Given the description of an element on the screen output the (x, y) to click on. 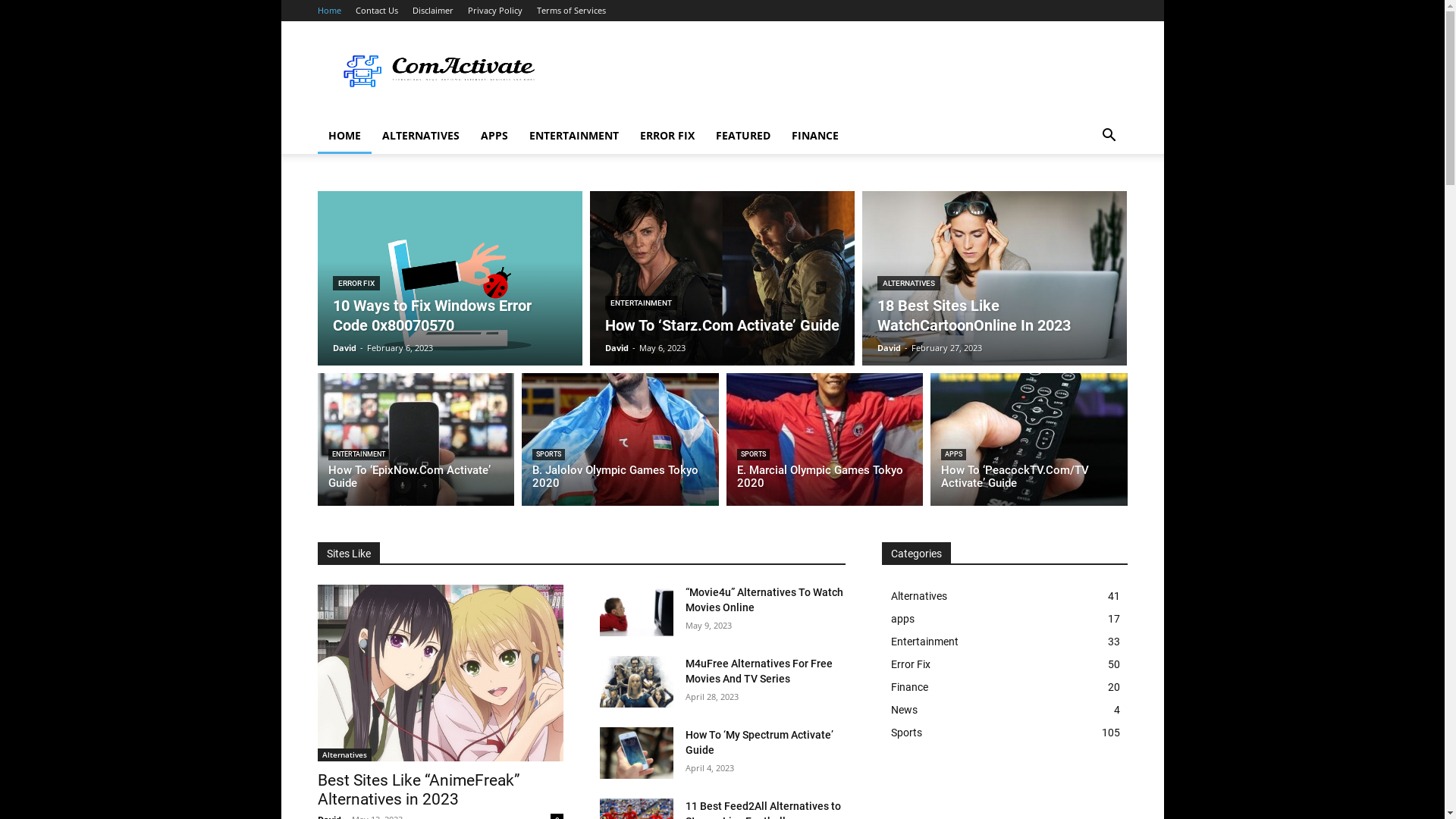
18 Best Sites Like WatchCartoonOnline In 2023 Element type: hover (994, 278)
18 Best Sites Like WatchCartoonOnline In 2023 Element type: text (973, 315)
FINANCE Element type: text (815, 135)
News
4 Element type: text (1003, 709)
M4uFree Alternatives For Free Movies And TV Series Element type: text (758, 670)
apps
17 Element type: text (1003, 618)
ALTERNATIVES Element type: text (908, 283)
APPS Element type: text (953, 454)
ENTERTAINMENT Element type: text (573, 135)
APPS Element type: text (494, 135)
Sports
105 Element type: text (1003, 732)
Terms of Services Element type: text (570, 9)
ALTERNATIVES Element type: text (420, 135)
Alternatives Element type: text (343, 754)
10 Ways to Fix Windows Error Code 0x80070570 Element type: hover (448, 278)
Disclaimer Element type: text (432, 9)
ENTERTAINMENT Element type: text (641, 302)
David Element type: text (616, 347)
David Element type: text (888, 347)
ERROR FIX Element type: text (667, 135)
Privacy Policy Element type: text (494, 9)
HOME Element type: text (343, 135)
ERROR FIX Element type: text (355, 283)
B. Jalolov Olympic Games Tokyo 2020 Element type: hover (619, 439)
Entertainment
33 Element type: text (1003, 641)
David Element type: text (343, 347)
M4uFree Alternatives For Free Movies And TV Series Element type: hover (635, 681)
B. Jalolov Olympic Games Tokyo 2020 Element type: text (615, 476)
10 Ways to Fix Windows Error Code 0x80070570 Element type: text (431, 315)
Finance
20 Element type: text (1003, 686)
E. Marcial Olympic Games Tokyo 2020 Element type: hover (824, 439)
Error Fix
50 Element type: text (1003, 663)
E. Marcial Olympic Games Tokyo 2020 Element type: text (820, 476)
FEATURED Element type: text (743, 135)
Alternatives
41 Element type: text (1003, 595)
SPORTS Element type: text (753, 454)
Home Element type: text (328, 9)
ENTERTAINMENT Element type: text (357, 454)
SPORTS Element type: text (548, 454)
Contact Us Element type: text (375, 9)
Search Element type: text (1085, 196)
